Given the description of an element on the screen output the (x, y) to click on. 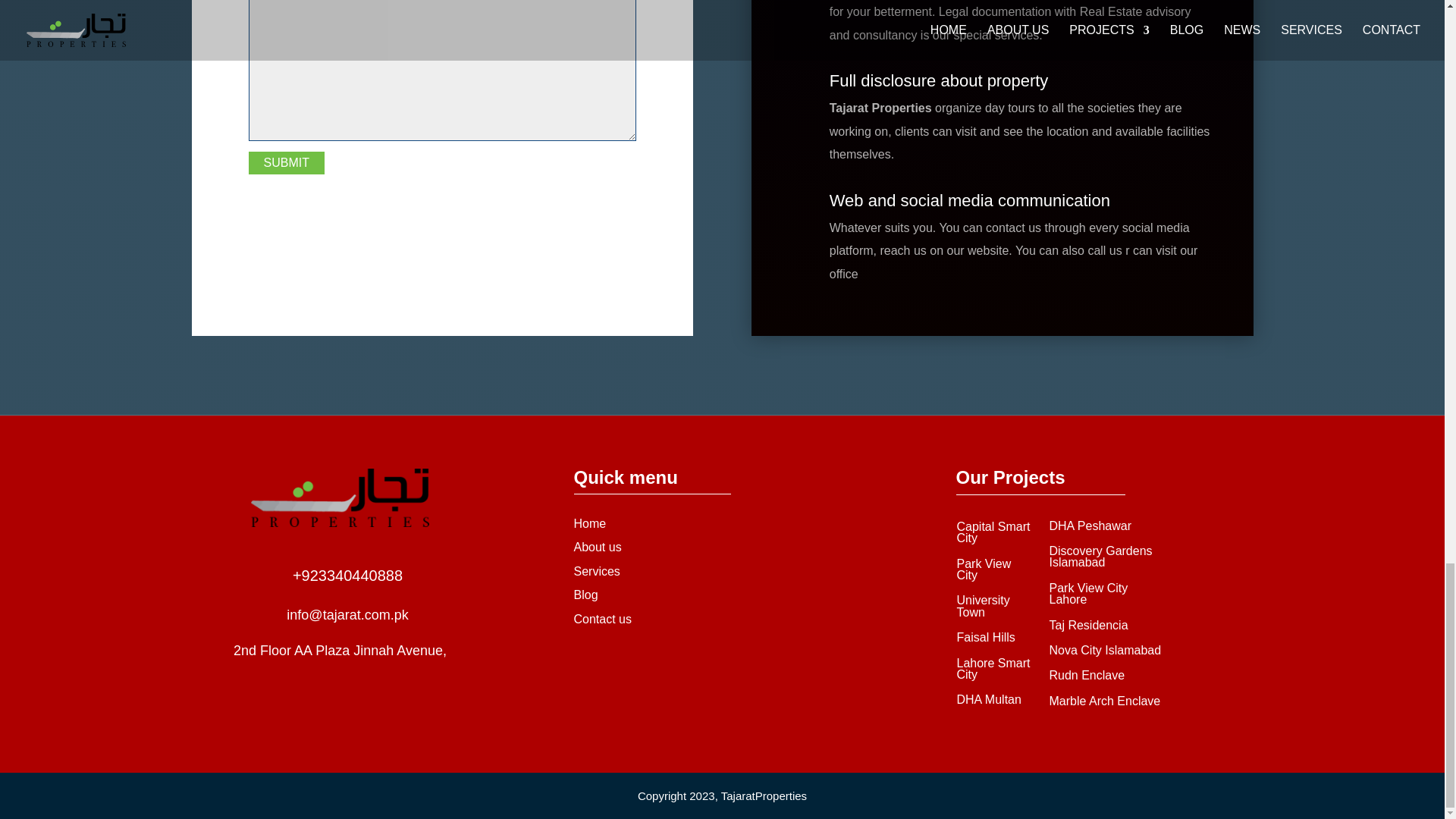
tajarat-logo (339, 497)
Submit (286, 162)
Submit (286, 162)
